Given the description of an element on the screen output the (x, y) to click on. 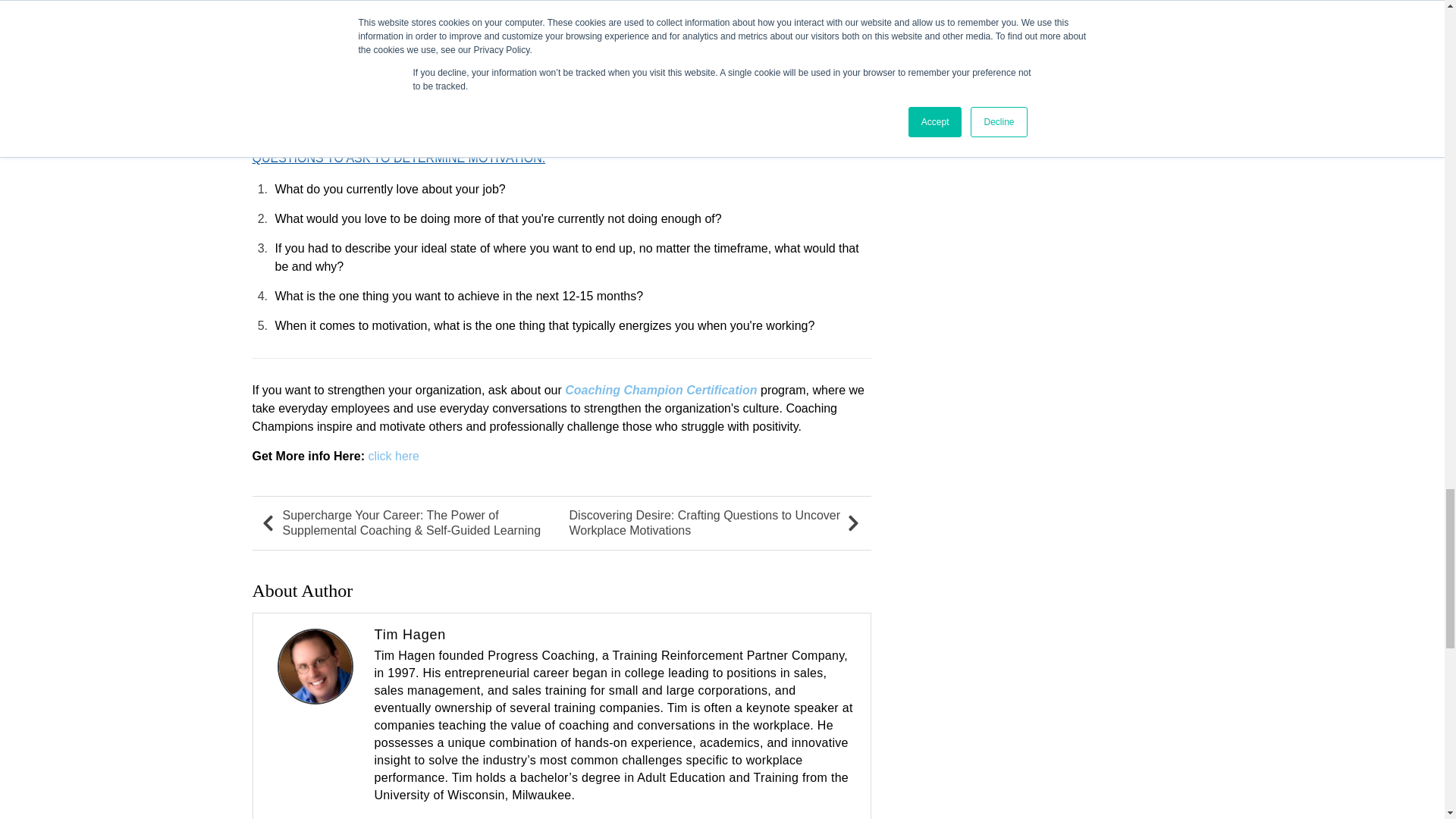
click here (393, 455)
Coaching Champion Certification (660, 390)
